Given the description of an element on the screen output the (x, y) to click on. 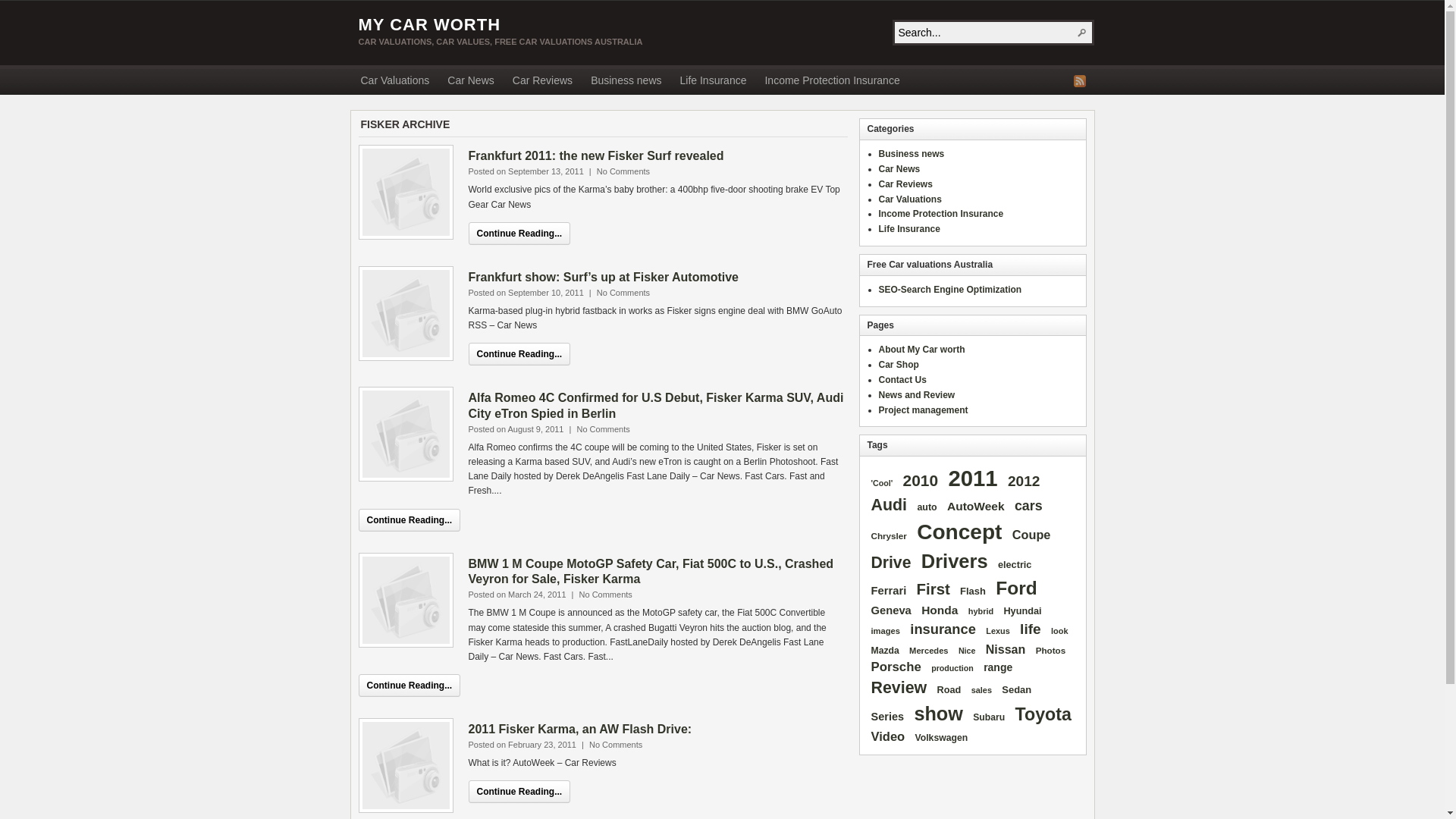
Sedan Element type: text (1016, 691)
cars Element type: text (1028, 507)
About My Car worth Element type: text (921, 349)
Audi Element type: text (889, 506)
2010 Element type: text (920, 481)
'Cool' Element type: text (882, 484)
Continue Reading... Element type: text (408, 519)
Video Element type: text (888, 737)
Ferrari Element type: text (888, 591)
Ford Element type: text (1015, 589)
Mercedes Element type: text (928, 651)
2011 Fisker Karma, an AW Flash Drive: Element type: hover (405, 765)
Honda Element type: text (939, 611)
Nice Element type: text (966, 652)
Continue Reading... Element type: text (519, 353)
Hyundai Element type: text (1021, 612)
sales Element type: text (981, 690)
Photos Element type: text (1051, 651)
electric Element type: text (1014, 566)
Income Protection Insurance Element type: text (831, 81)
2012 Element type: text (1023, 482)
Car Shop Element type: text (898, 364)
Car Valuations Element type: text (395, 81)
Contact Us Element type: text (901, 379)
Continue Reading... Element type: text (519, 233)
AutoWeek Element type: text (975, 507)
Porsche Element type: text (896, 667)
Lexus Element type: text (997, 631)
Geneva Element type: text (891, 611)
Toyota Element type: text (1043, 715)
First Element type: text (933, 590)
News and Review Element type: text (916, 394)
look Element type: text (1059, 631)
Subaru Element type: text (988, 719)
Drive Element type: text (891, 563)
production Element type: text (952, 669)
RSS Feed Element type: text (1079, 81)
Road Element type: text (949, 691)
show Element type: text (938, 714)
Search Element type: text (1081, 32)
Mazda Element type: text (885, 652)
SEO-Search Engine Optimization Element type: text (949, 289)
Project management Element type: text (922, 409)
Frankfurt 2011: the new Fisker Surf revealed Element type: text (596, 155)
insurance Element type: text (942, 630)
Car News Element type: text (898, 168)
Car News Element type: text (470, 81)
auto Element type: text (926, 508)
images Element type: text (885, 632)
Search My Car Worth Element type: hover (1081, 32)
Drivers Element type: text (954, 562)
Car Reviews Element type: text (542, 81)
Series Element type: text (887, 717)
Life Insurance Element type: text (713, 81)
life Element type: text (1030, 630)
2011 Element type: text (972, 479)
Flash Element type: text (972, 592)
Continue Reading... Element type: text (408, 685)
Coupe Element type: text (1031, 536)
Concept Element type: text (959, 533)
Review Element type: text (899, 689)
Car Valuations Element type: text (909, 199)
Nissan Element type: text (1005, 650)
2011 Fisker Karma, an AW Flash Drive: Element type: text (580, 728)
Business news Element type: text (625, 81)
Chrysler Element type: text (888, 536)
Car Reviews Element type: text (904, 183)
Life Insurance Element type: text (908, 228)
Income Protection Insurance Element type: text (940, 213)
Continue Reading... Element type: text (519, 791)
Volkswagen Element type: text (941, 739)
range Element type: text (997, 668)
hybrid Element type: text (980, 611)
Business news Element type: text (911, 153)
MY CAR WORTH Element type: text (428, 24)
Frankfurt 2011: the new Fisker Surf revealed Element type: hover (405, 191)
